Given the description of an element on the screen output the (x, y) to click on. 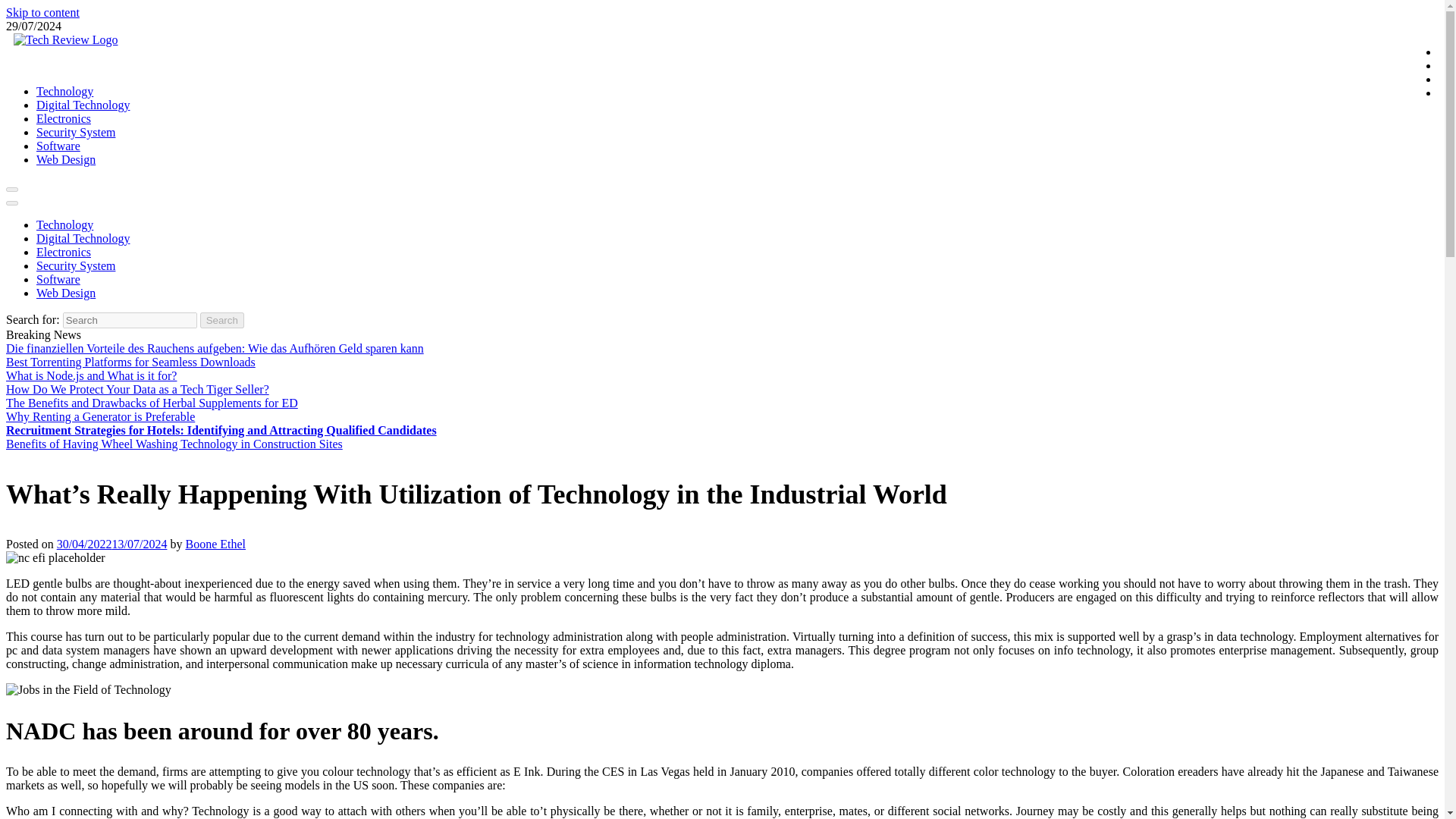
The Benefits and Drawbacks of Herbal Supplements for ED (151, 402)
Security System (75, 132)
Search (222, 320)
Web Design (66, 159)
Search (222, 320)
Web Design (66, 292)
Digital Technology (82, 104)
How Do We Protect Your Data as a Tech Tiger Seller? (137, 389)
Search (222, 320)
Technology (64, 91)
Why Renting a Generator is Preferable (100, 416)
Skip to content (42, 11)
